Given the description of an element on the screen output the (x, y) to click on. 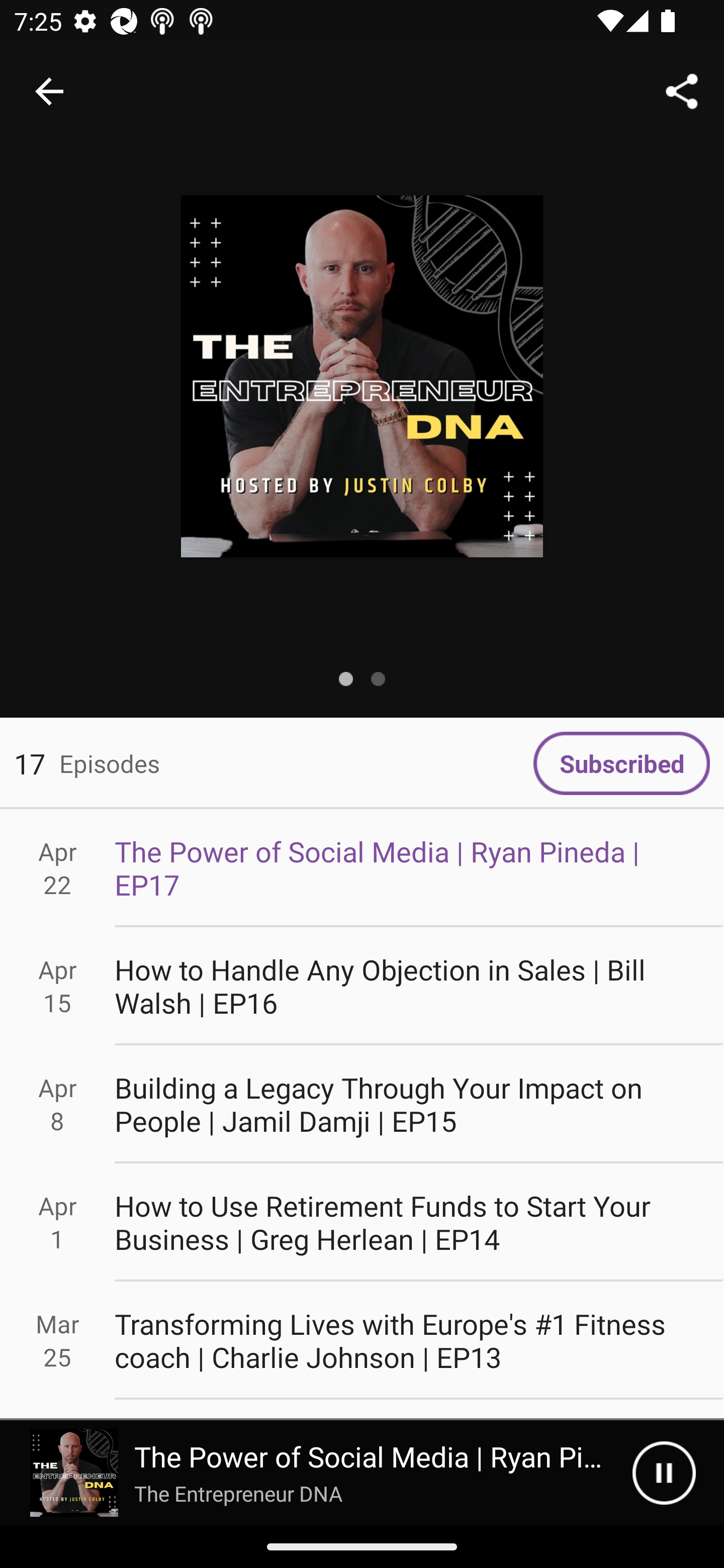
Navigate up (49, 91)
Share... (681, 90)
Subscribed (621, 763)
Pause (663, 1472)
